Given the description of an element on the screen output the (x, y) to click on. 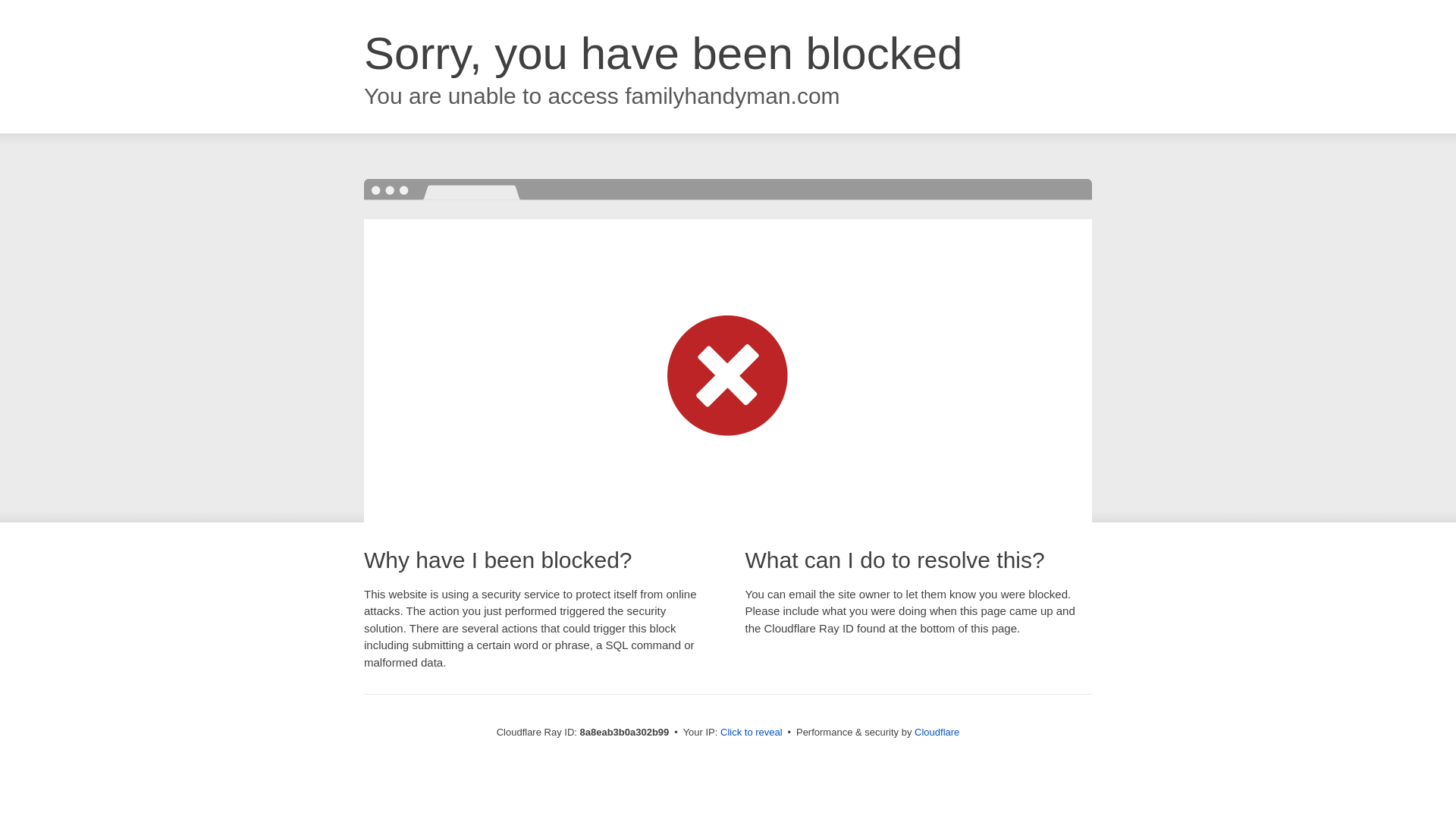
Cloudflare (936, 731)
Click to reveal (751, 732)
